Given the description of an element on the screen output the (x, y) to click on. 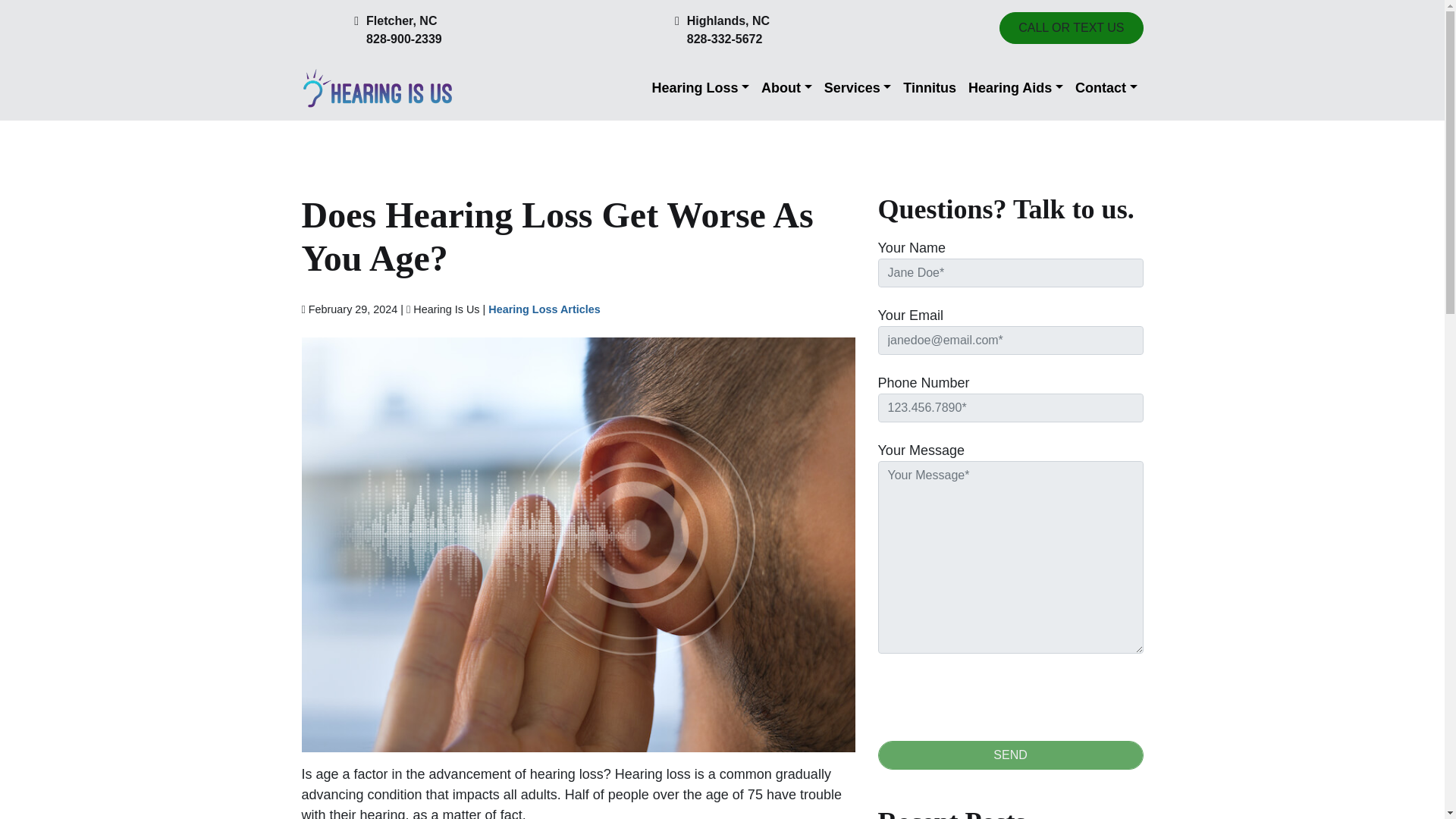
828-332-5672 (728, 39)
Tinnitus (929, 88)
Contact (1105, 88)
CALL OR TEXT US (1070, 28)
Highlands, NC (728, 21)
Services (858, 88)
Hearing Aids (1015, 88)
About (786, 88)
Hearing Loss Articles (543, 309)
828-900-2339 (404, 39)
Fletcher, NC (404, 21)
Send (1009, 755)
Hearing Loss (700, 88)
